Given the description of an element on the screen output the (x, y) to click on. 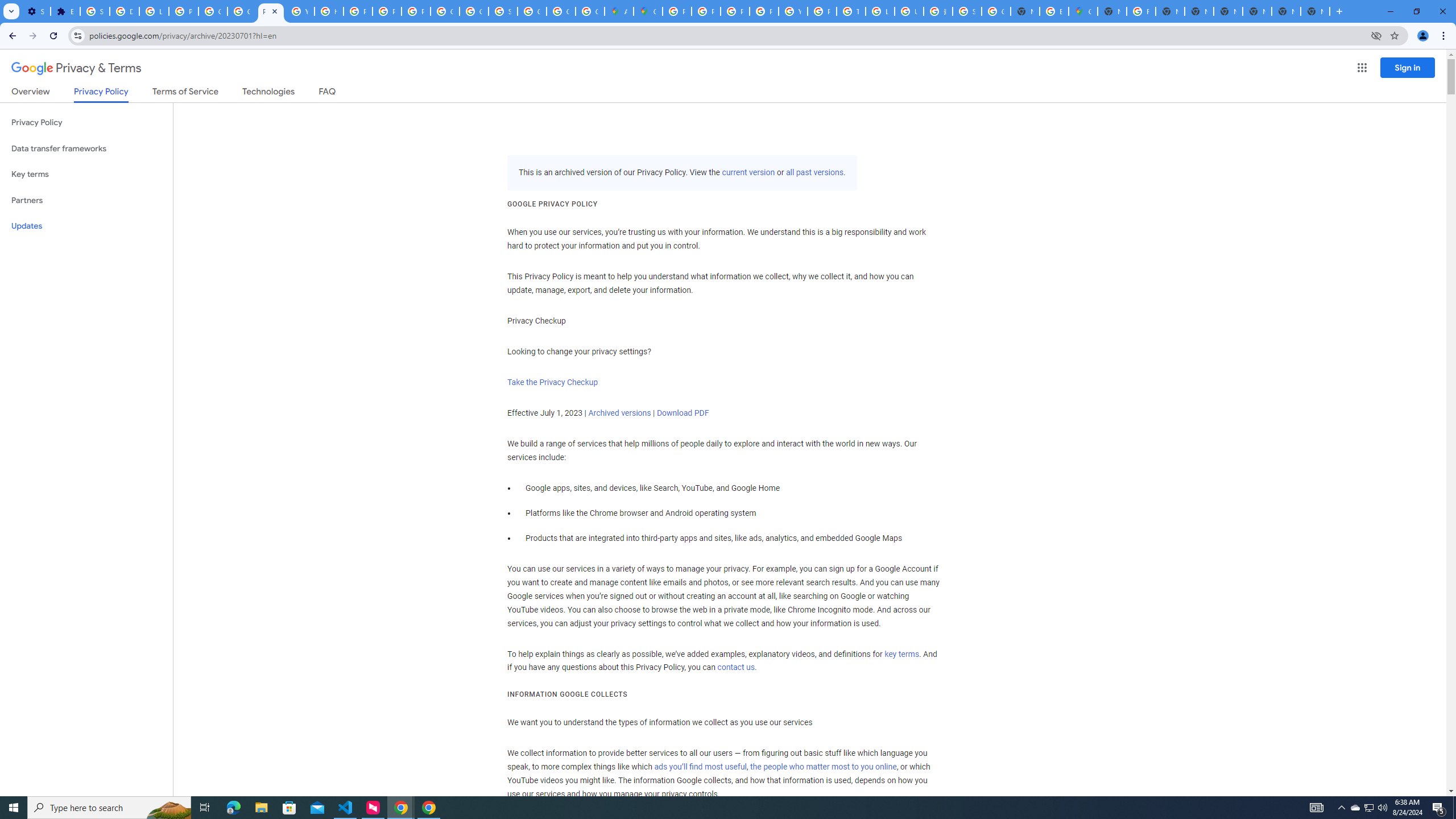
Settings - On startup (35, 11)
New Tab (1111, 11)
Privacy Help Center - Policies Help (734, 11)
Google Account Help (212, 11)
